Given the description of an element on the screen output the (x, y) to click on. 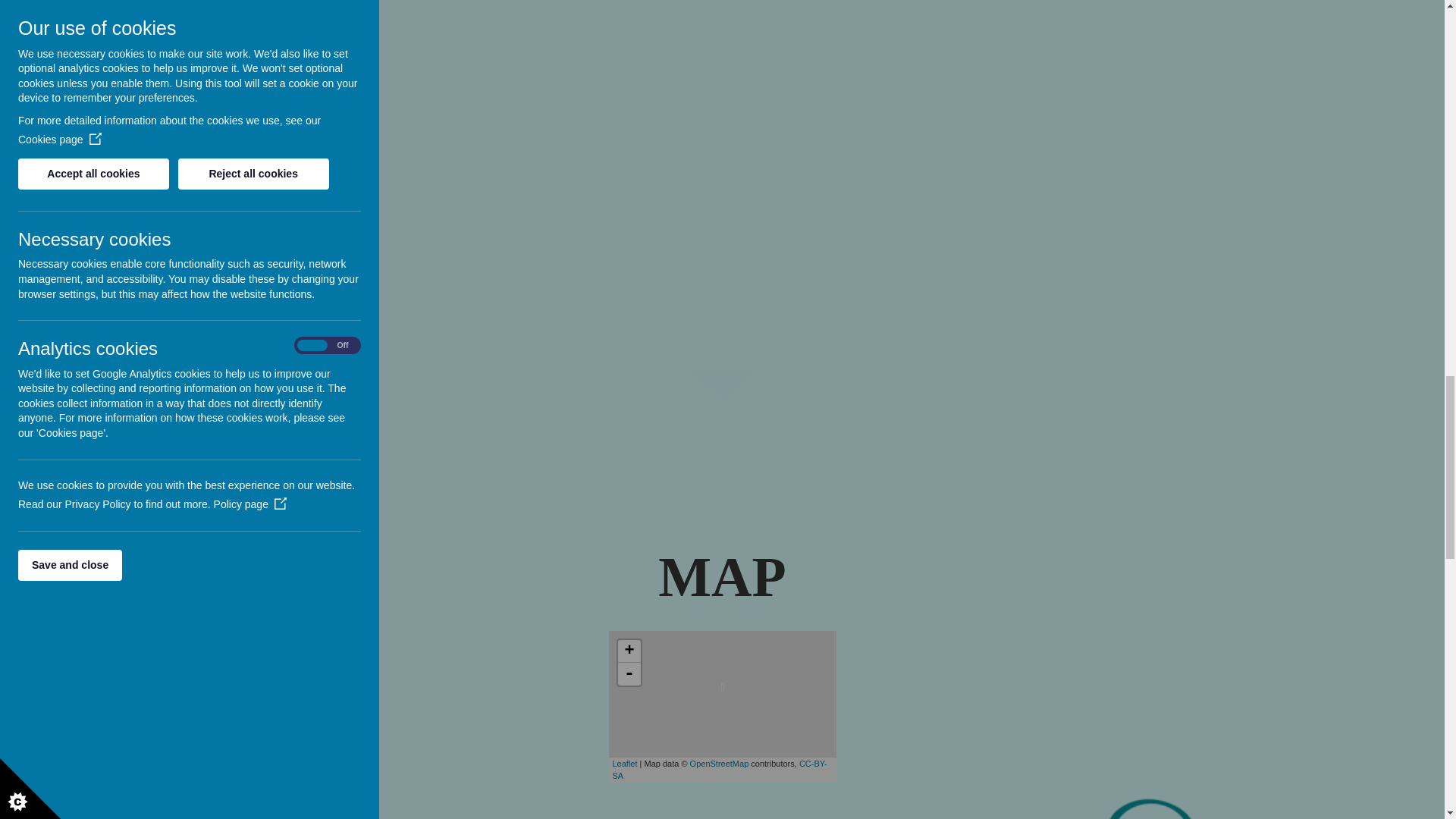
Zoom out (628, 673)
Leaflet (624, 763)
Zoom in (628, 650)
A JS library for interactive maps (624, 763)
OpenStreetMap (719, 763)
CC-BY-SA (719, 770)
- (628, 673)
